Given the description of an element on the screen output the (x, y) to click on. 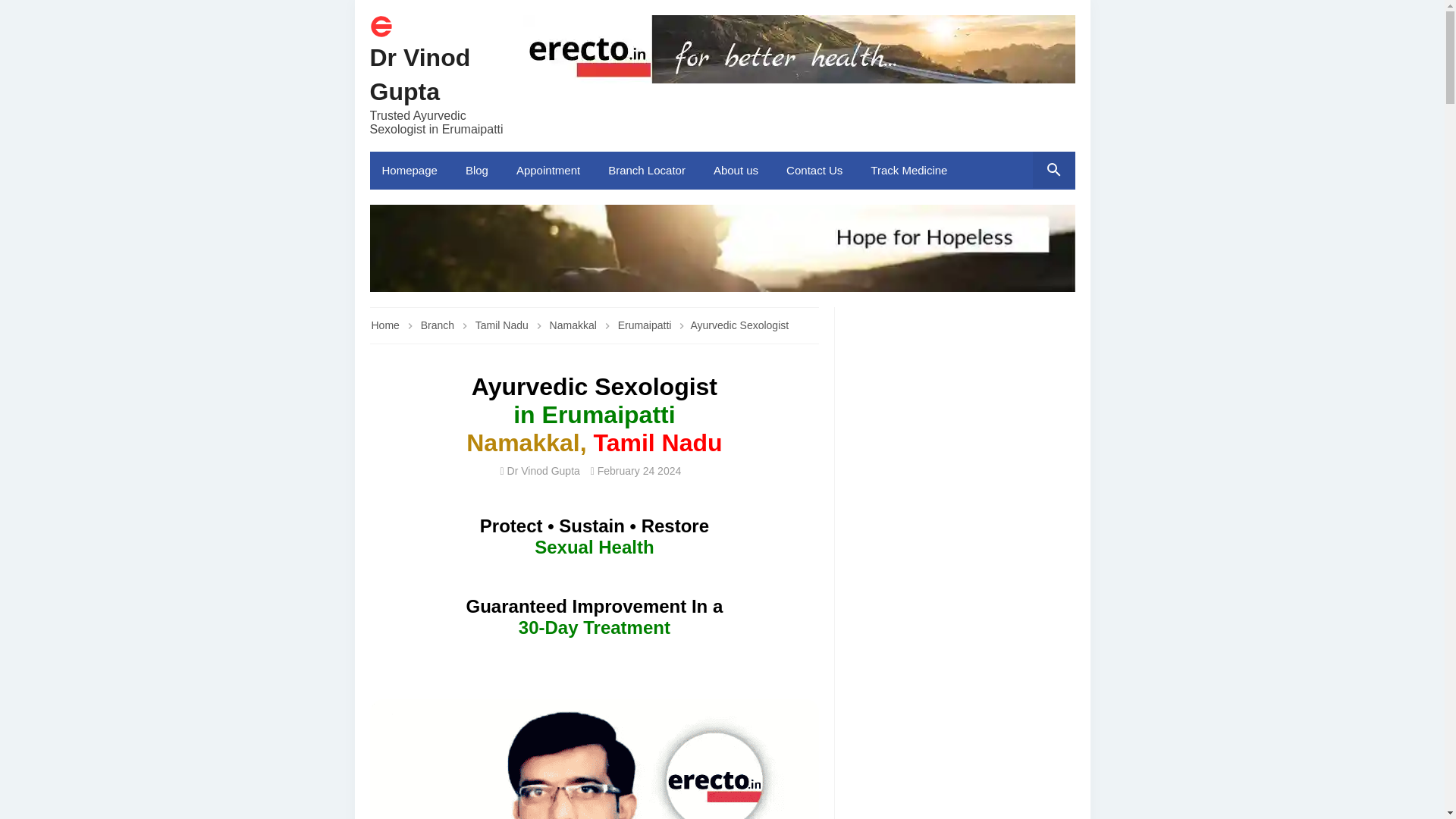
Tamil Nadu (503, 325)
Erumaipatti (646, 325)
About us (737, 170)
Dr Vinod Gupta (419, 74)
Erumaipatti (646, 325)
Namakkal (574, 325)
Dr Vinod Gupta (419, 74)
Contact Us (816, 170)
Home (384, 325)
February 24 2024 (638, 470)
